Given the description of an element on the screen output the (x, y) to click on. 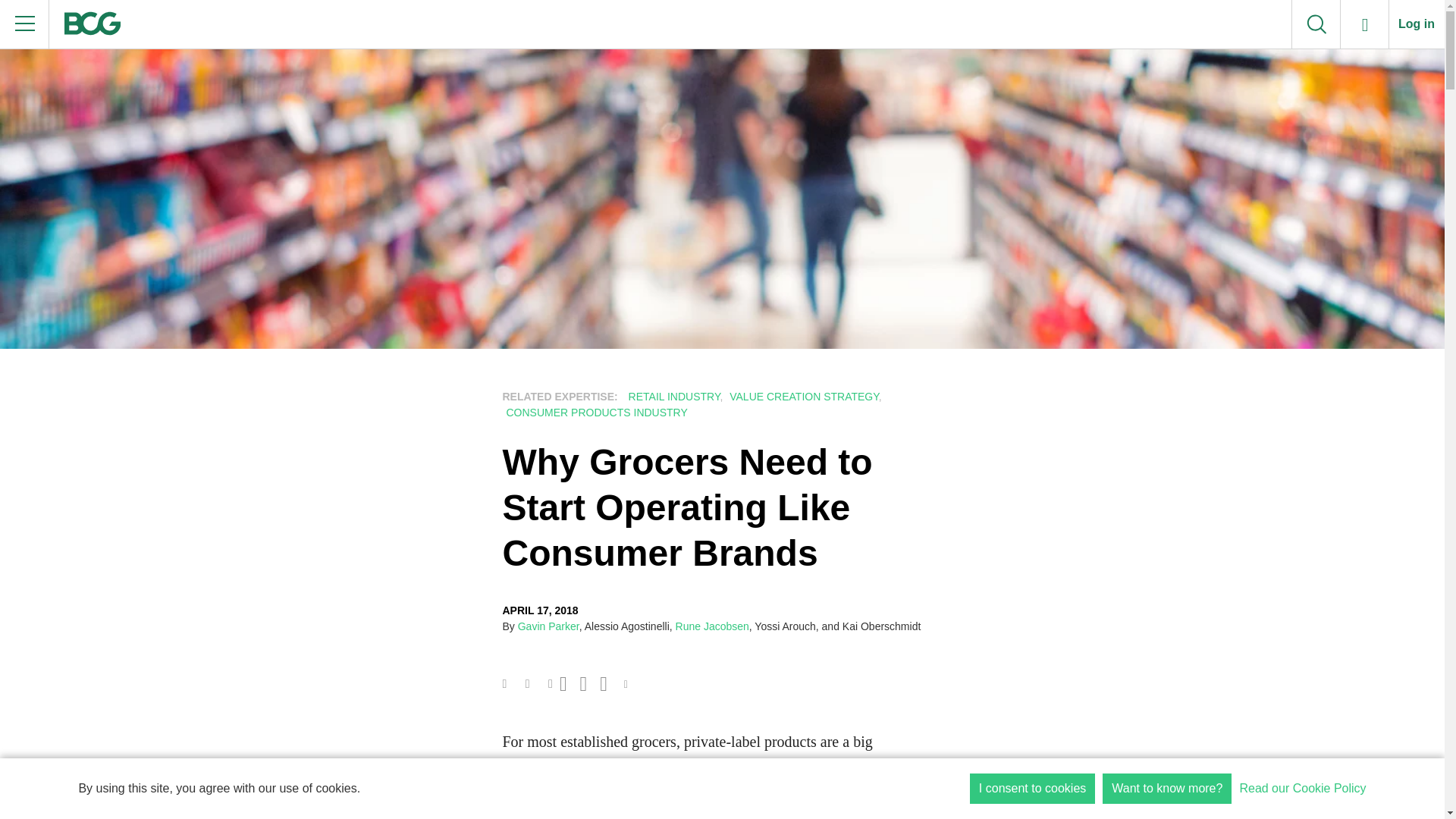
CONSUMER PRODUCTS INDUSTRY (594, 412)
RETAIL INDUSTRY (672, 396)
Rune Jacobsen (712, 625)
Gavin Parker (548, 625)
Log in (1416, 24)
VALUE CREATION STRATEGY (802, 396)
